Given the description of an element on the screen output the (x, y) to click on. 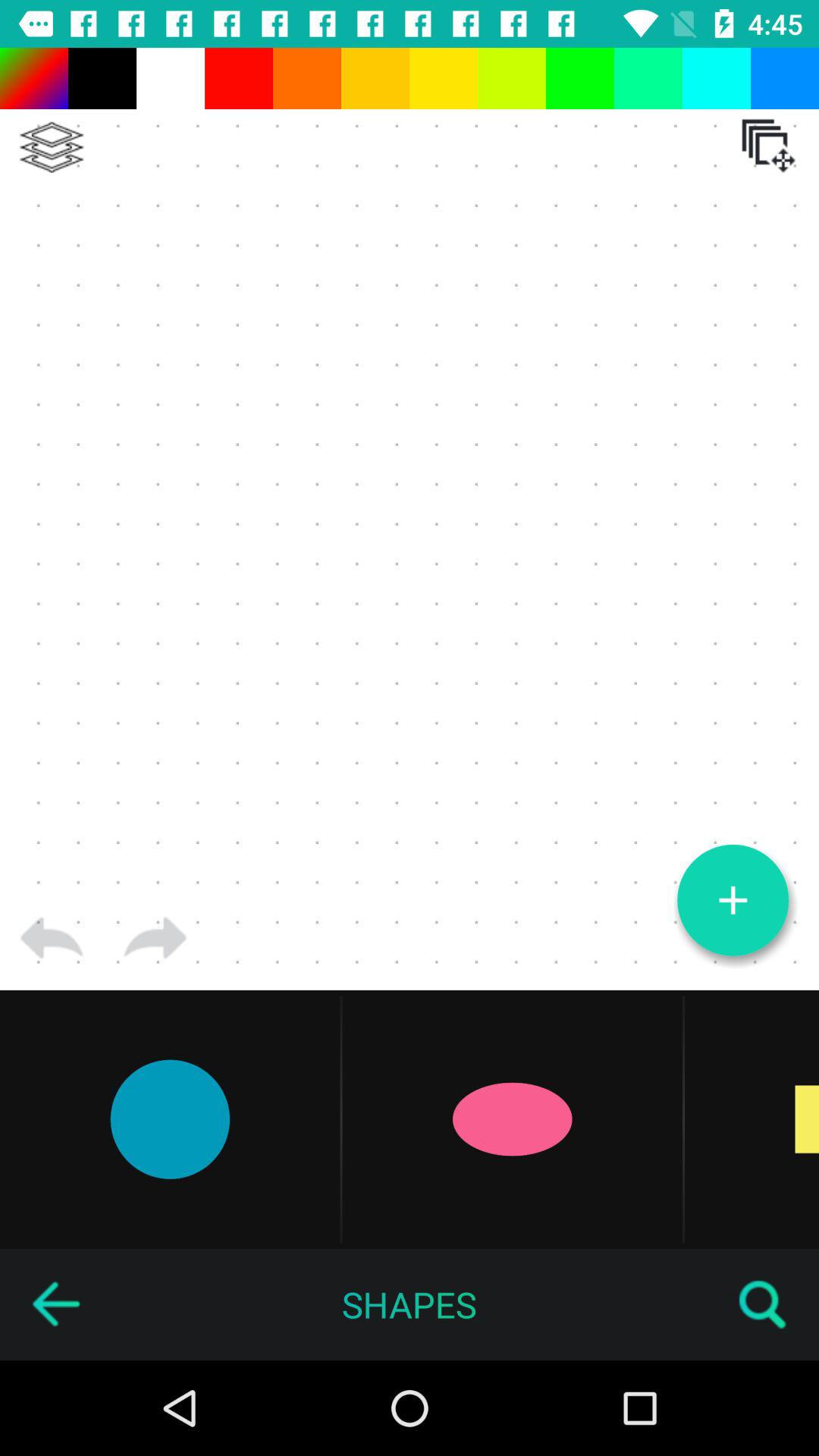
go back (51, 938)
